Given the description of an element on the screen output the (x, y) to click on. 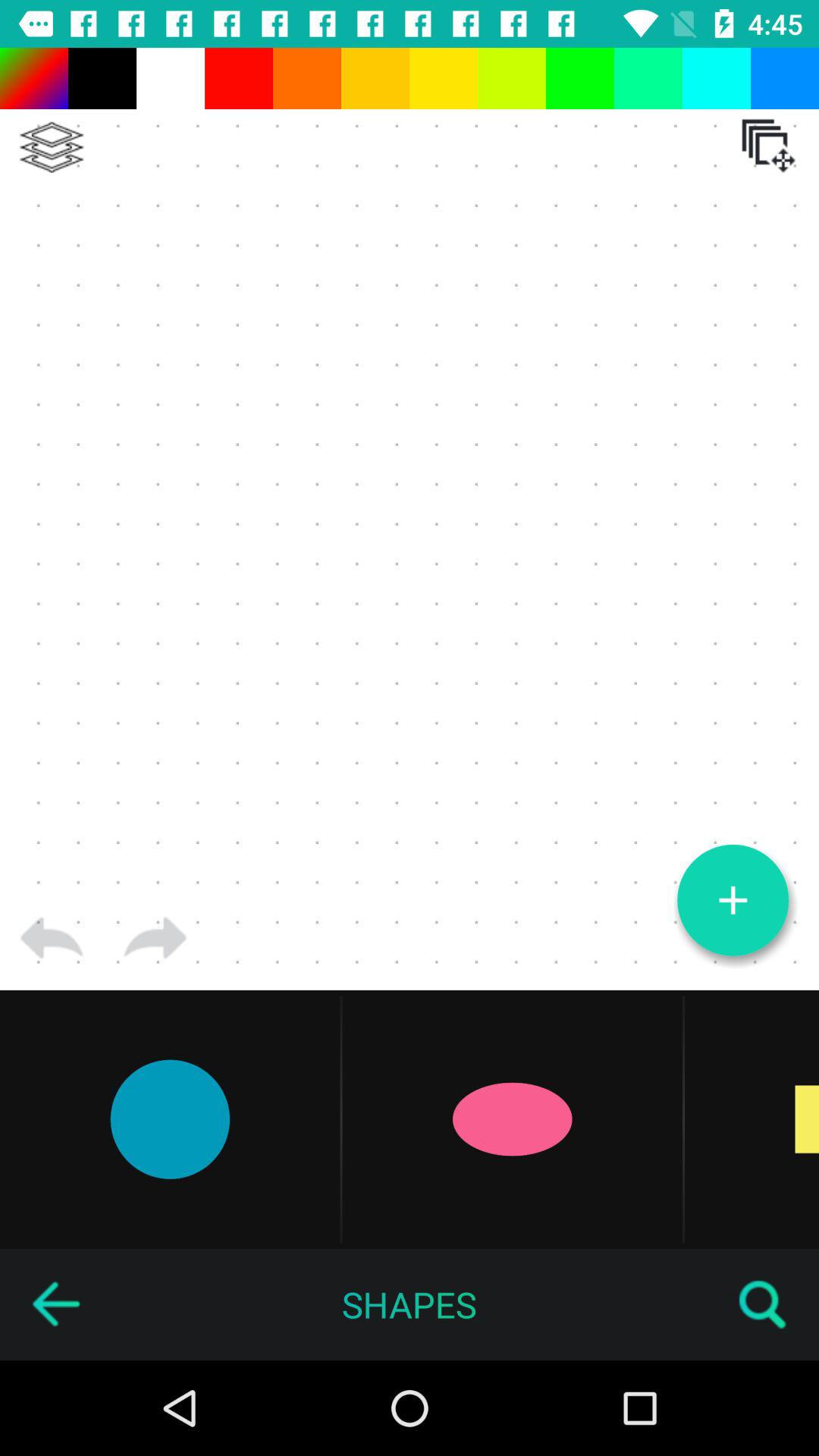
go back (51, 938)
